Given the description of an element on the screen output the (x, y) to click on. 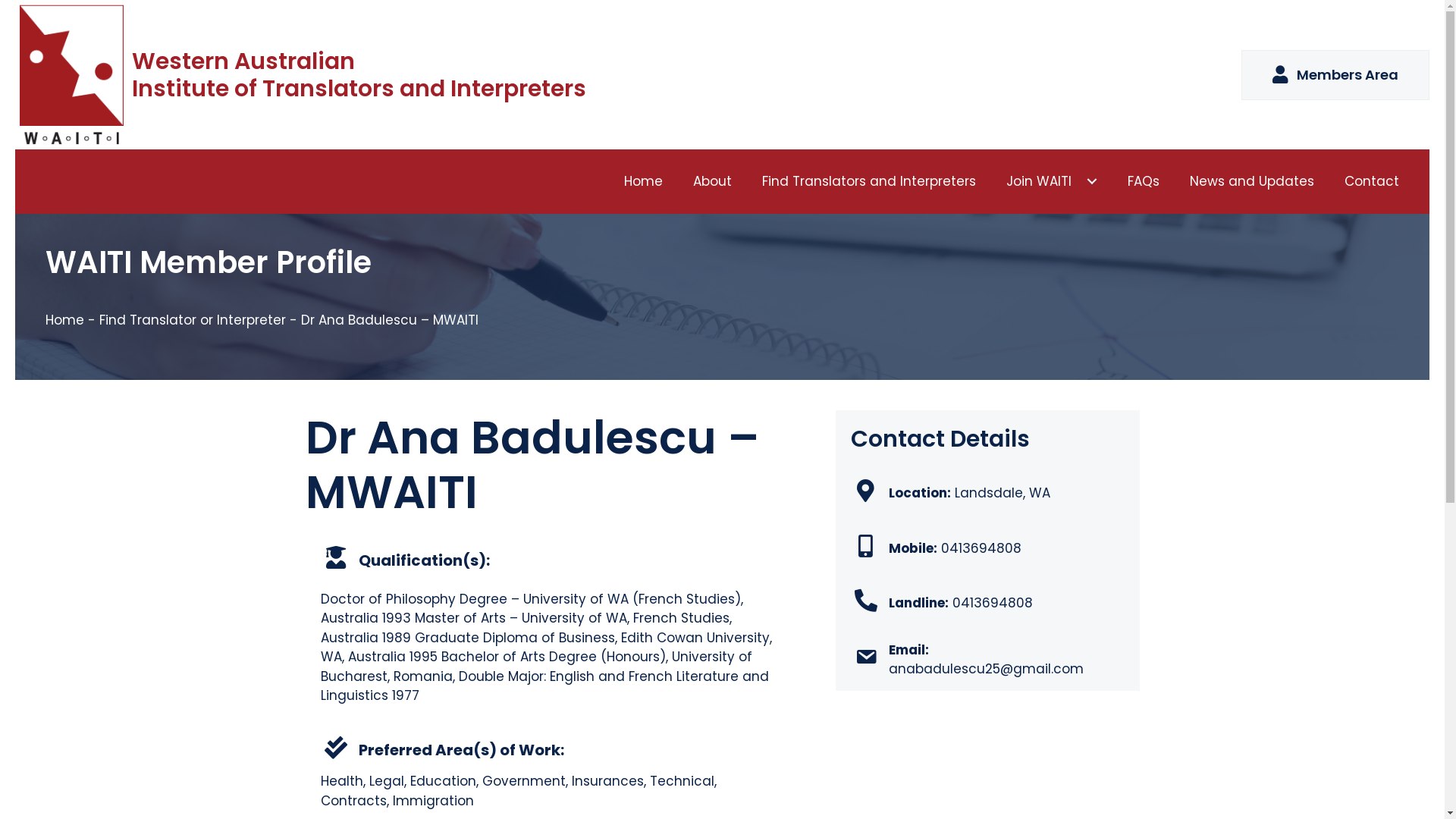
Find Translators and Interpreters Element type: text (868, 181)
Home Element type: text (642, 181)
Contact Element type: text (1371, 181)
Find Translator or Interpreter Element type: text (192, 319)
Join WAITI Element type: text (1051, 181)
Home Element type: text (64, 319)
News and Updates Element type: text (1251, 181)
Western Australian
Institute of Translators and Interpreters Element type: text (358, 74)
About Element type: text (711, 181)
FAQs Element type: text (1143, 181)
WAITI-logo Element type: hover (71, 74)
Members Area Element type: text (1335, 74)
